Given the description of an element on the screen output the (x, y) to click on. 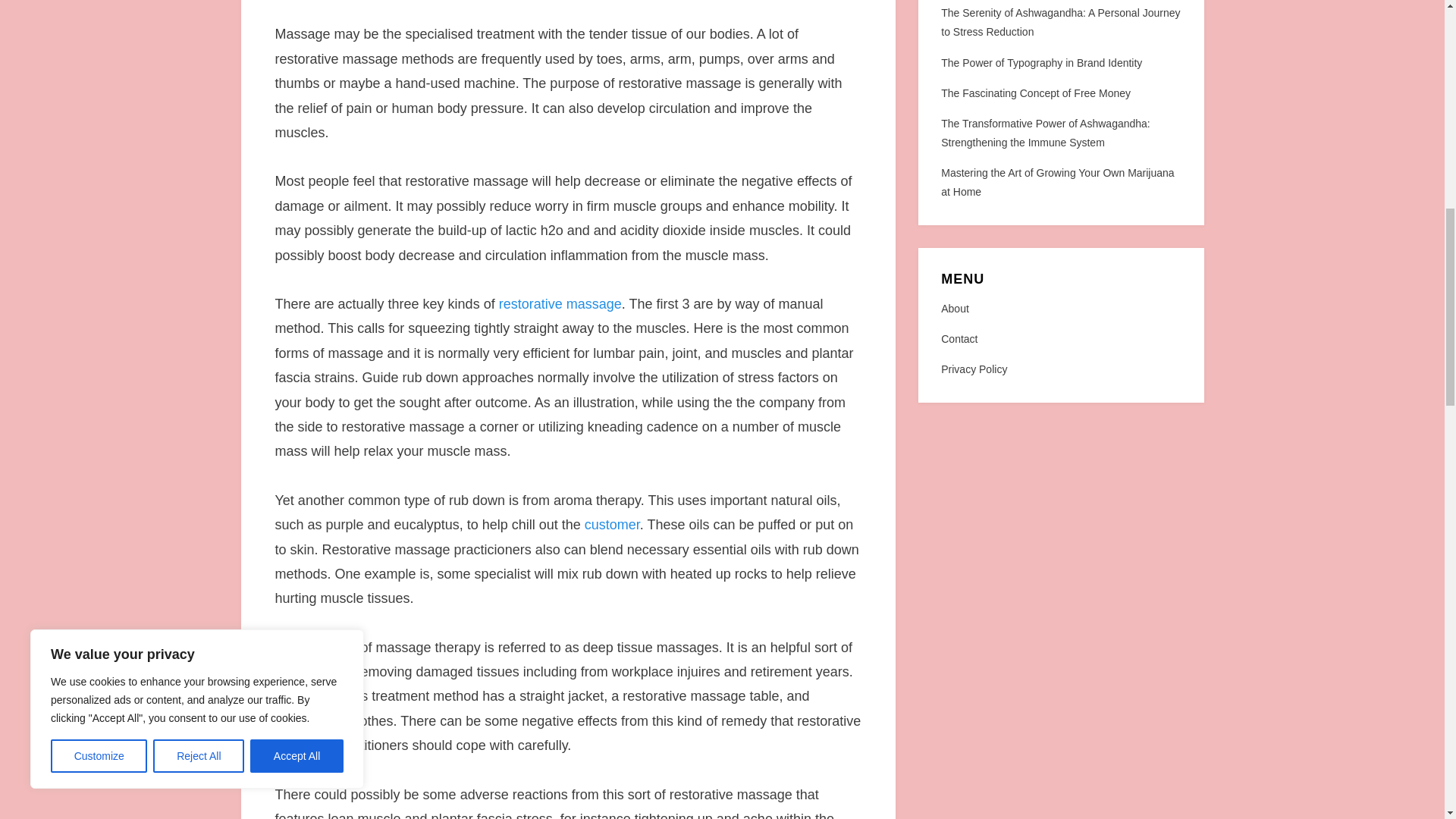
restorative massage (560, 304)
customer (612, 524)
